Given the description of an element on the screen output the (x, y) to click on. 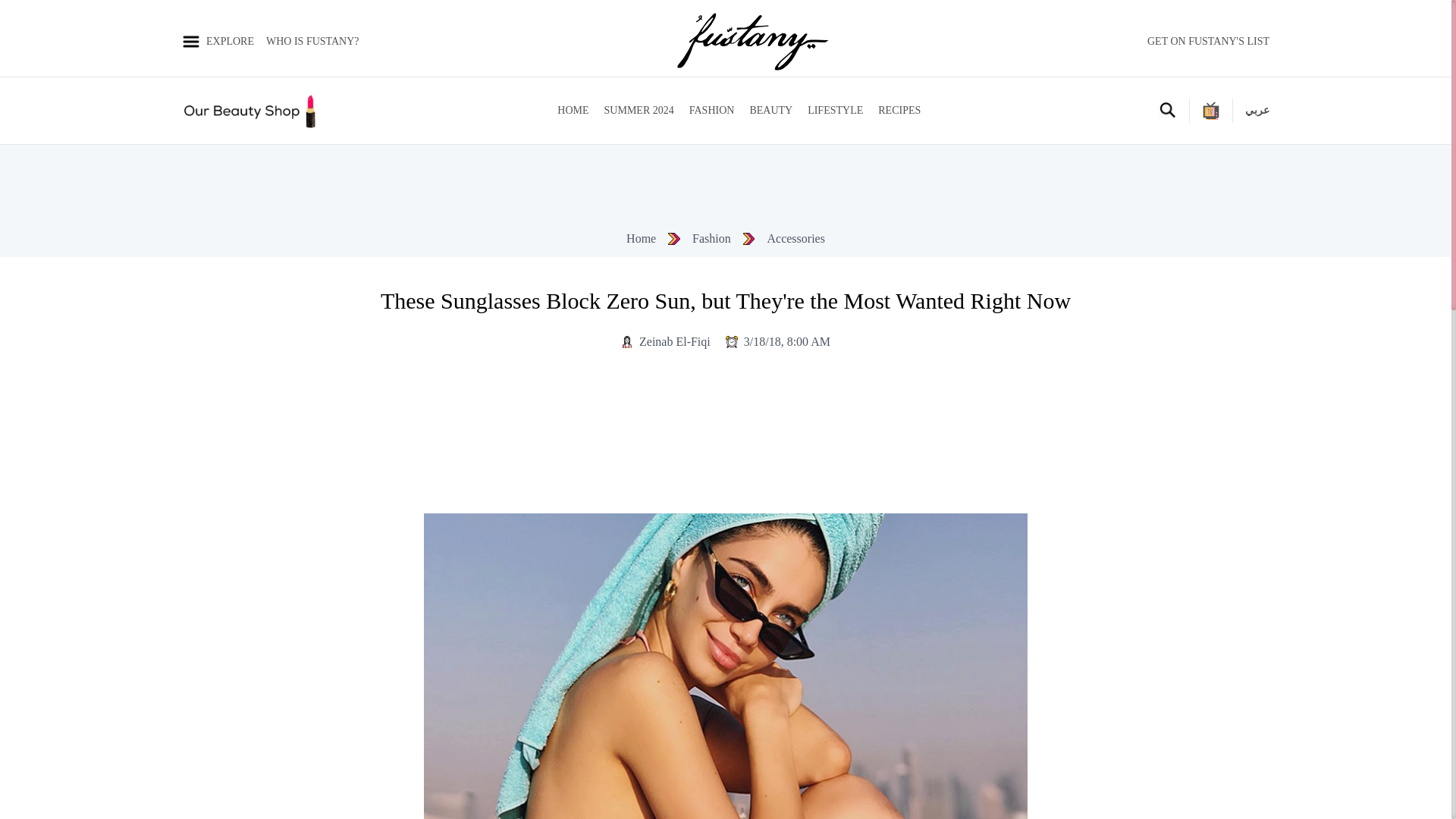
GET ON FUSTANY'S LIST (1208, 41)
Home (641, 239)
FASHION (711, 110)
SUMMER 2024 (639, 110)
LIFESTYLE (835, 110)
BEAUTY (770, 110)
Fashion (711, 239)
HOME (572, 110)
WHO IS FUSTANY? (312, 41)
RECIPES (898, 110)
